Given the description of an element on the screen output the (x, y) to click on. 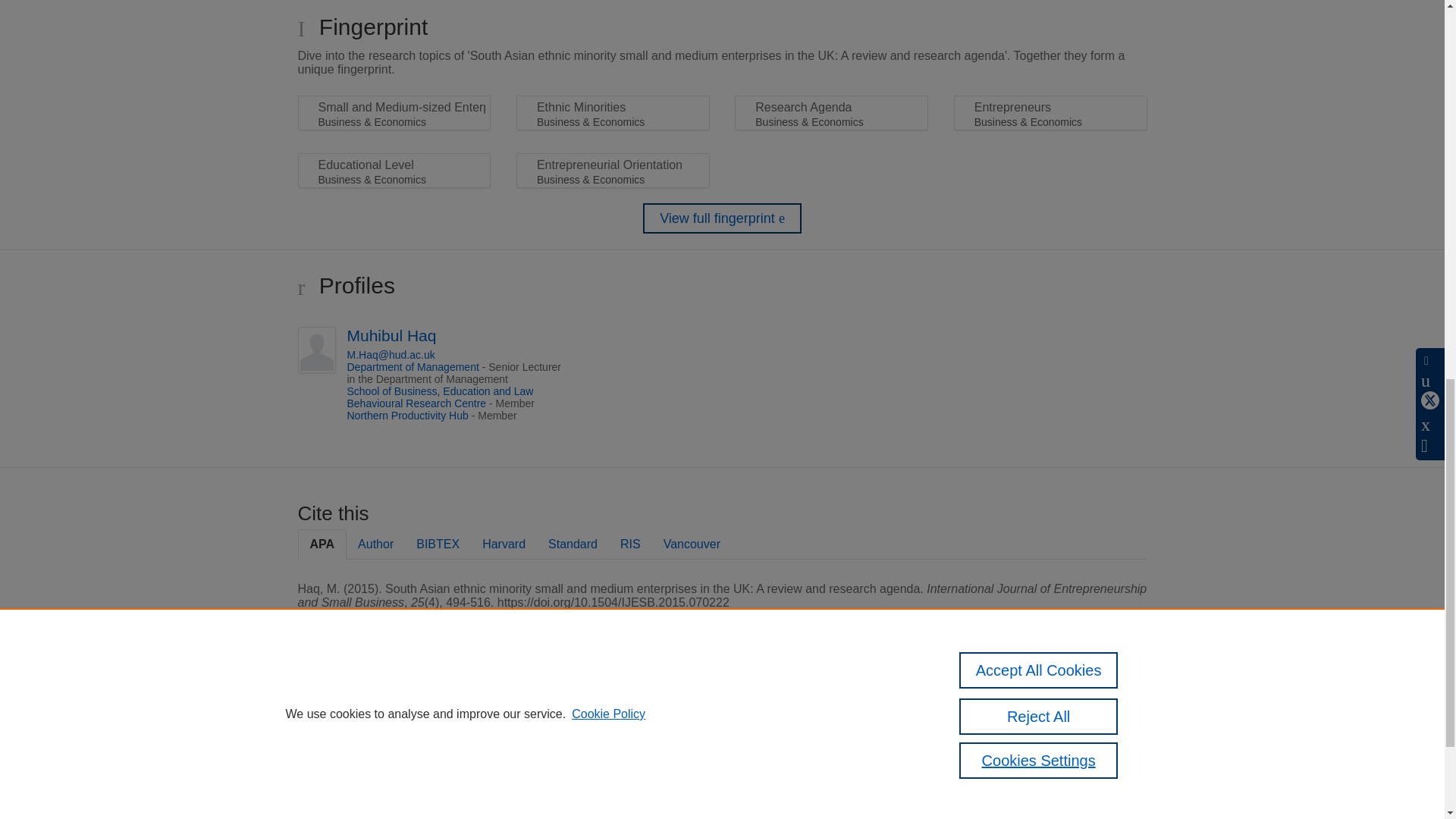
Department of Management (413, 367)
Muhibul Haq (391, 334)
View full fingerprint (722, 218)
Behavioural Research Centre (416, 403)
School of Business, Education and Law (440, 390)
Northern Productivity Hub (407, 415)
